Given the description of an element on the screen output the (x, y) to click on. 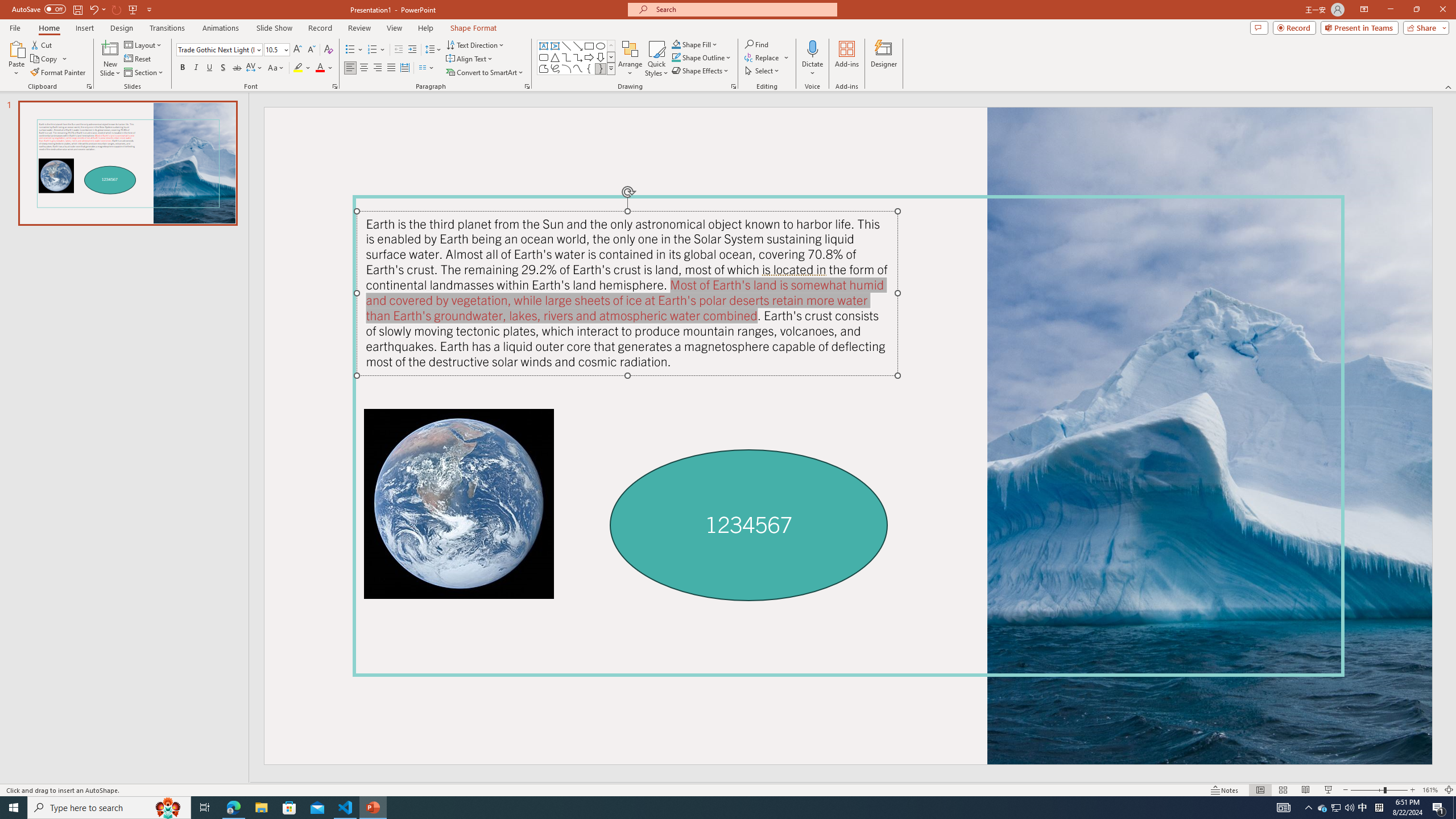
Format Object... (733, 85)
Select (762, 69)
Strikethrough (237, 67)
Text Highlight Color Yellow (297, 67)
Align Left (349, 67)
Shape Outline (701, 56)
Decrease Indent (398, 49)
Zoom 161% (1430, 790)
Underline (209, 67)
